Given the description of an element on the screen output the (x, y) to click on. 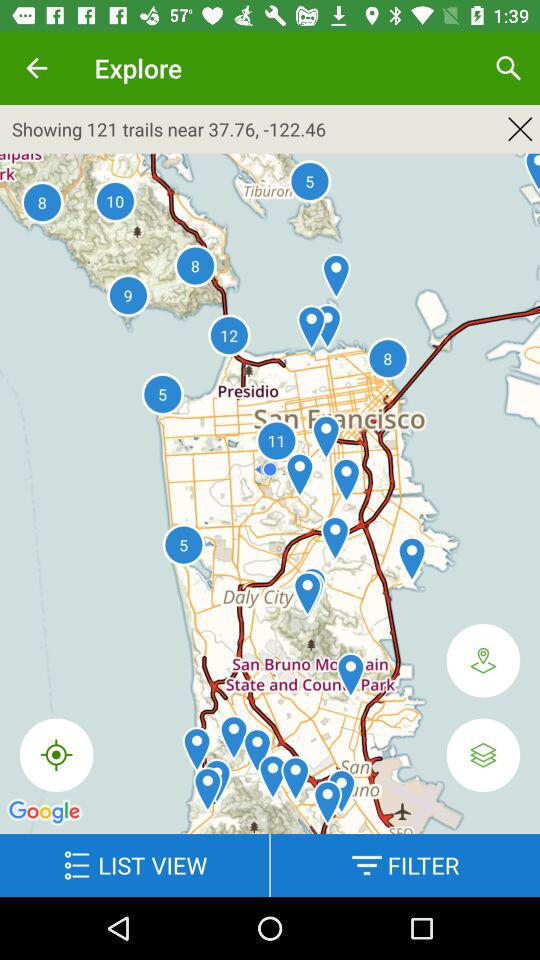
launch the icon next to showing 121 trails (520, 128)
